Given the description of an element on the screen output the (x, y) to click on. 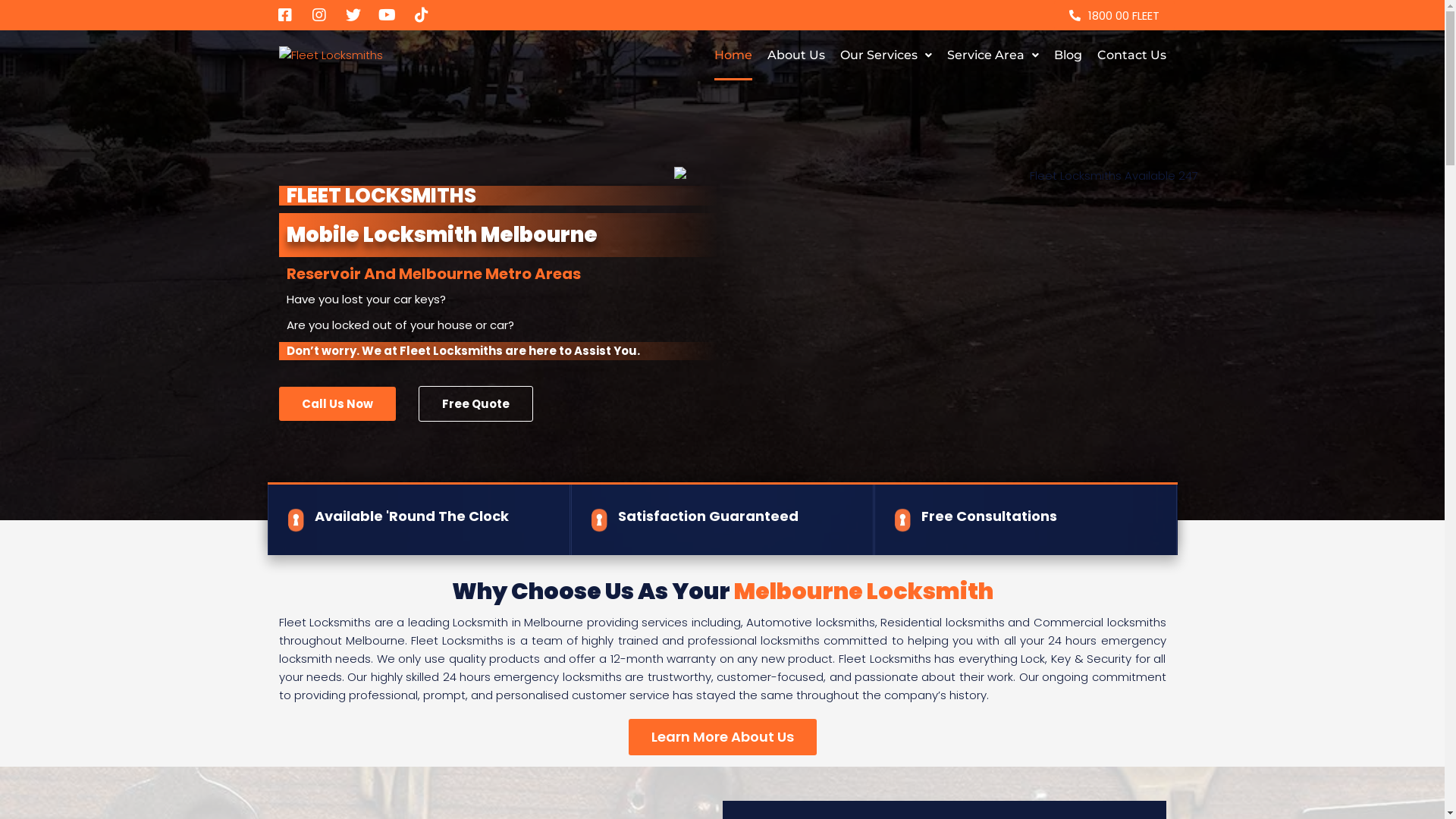
Twitter Element type: text (353, 15)
Facebook-square Element type: text (284, 15)
Contact Us Element type: text (1130, 55)
Instagram Element type: text (319, 15)
Youtube Element type: text (387, 15)
Call Us Now Element type: text (337, 403)
Service Area Element type: text (992, 55)
Our Services Element type: text (885, 55)
Tiktok Element type: text (421, 15)
Free Quote Element type: text (475, 403)
Learn More About Us Element type: text (721, 736)
About Us Element type: text (796, 55)
Blog Element type: text (1068, 55)
1800 00 FLEET Element type: text (1114, 15)
Home Element type: text (733, 55)
